Given the description of an element on the screen output the (x, y) to click on. 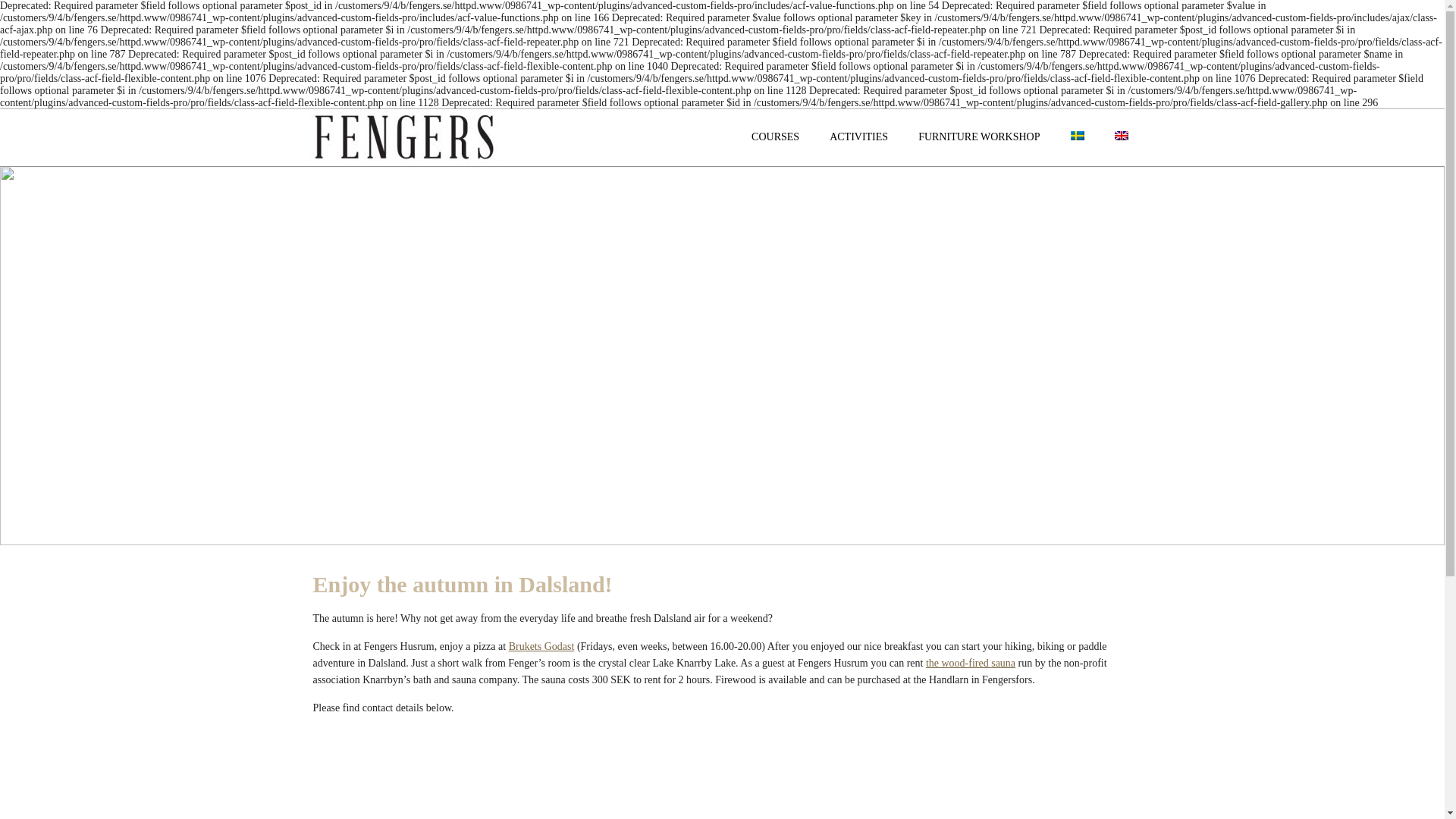
COURSES (775, 136)
Brukets Godast (541, 645)
FURNITURE WORKSHOP (978, 136)
ACTIVITIES (858, 136)
the wood-fired sauna (970, 663)
